Given the description of an element on the screen output the (x, y) to click on. 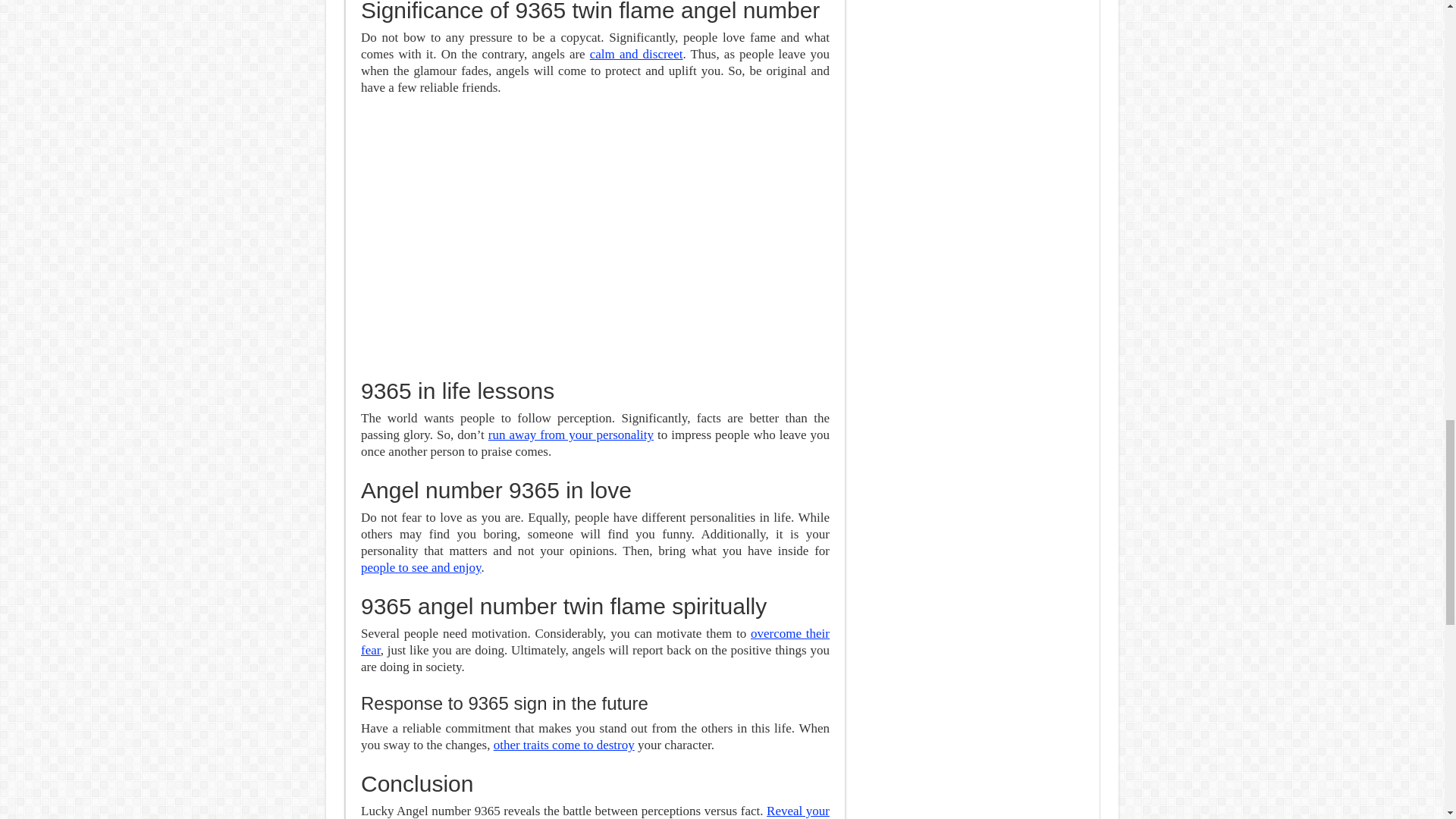
run away from your personality (570, 434)
other traits come to destroy (563, 744)
overcome their fear (595, 641)
people to see and enjoy (420, 567)
calm and discreet (635, 53)
